Given the description of an element on the screen output the (x, y) to click on. 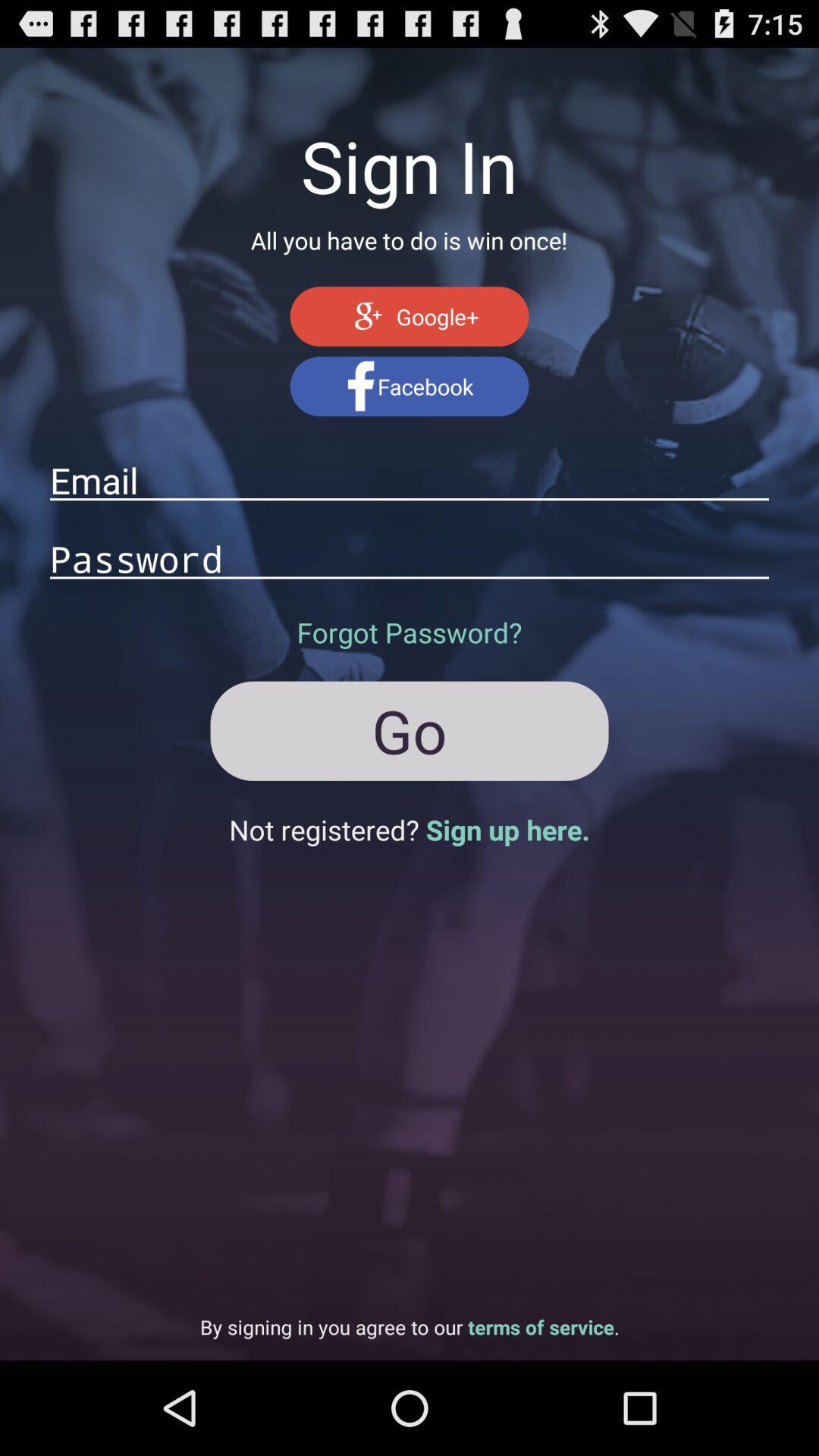
enter the email address (409, 480)
